Given the description of an element on the screen output the (x, y) to click on. 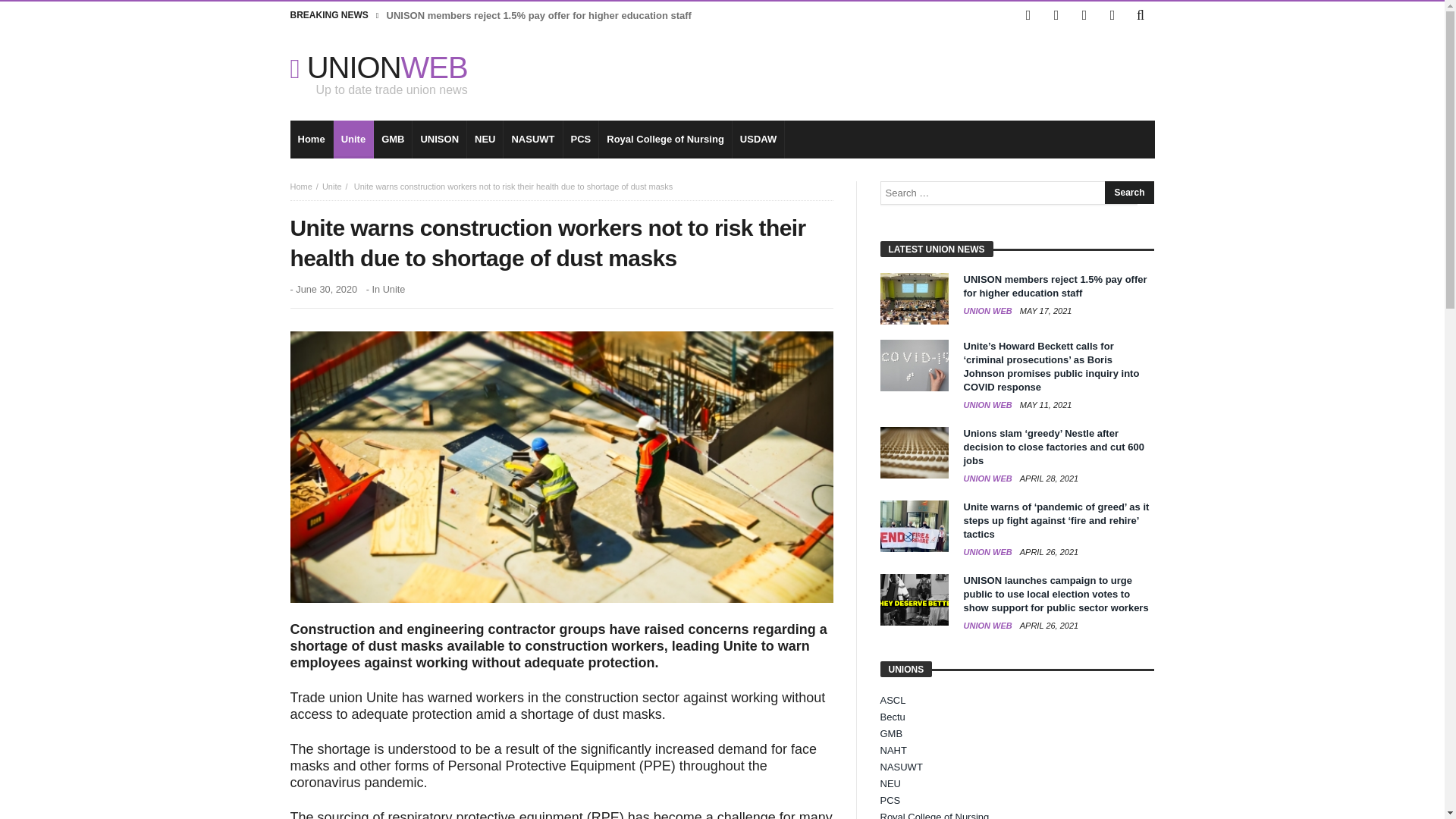
Unite (331, 185)
UNIONWEB (378, 67)
USDAW (758, 139)
UNISON (439, 139)
Royal College of Nursing (665, 139)
Unite (353, 139)
GMB (393, 139)
Search (1129, 191)
LinkedIn (1111, 15)
Twitter (1056, 15)
